Given the description of an element on the screen output the (x, y) to click on. 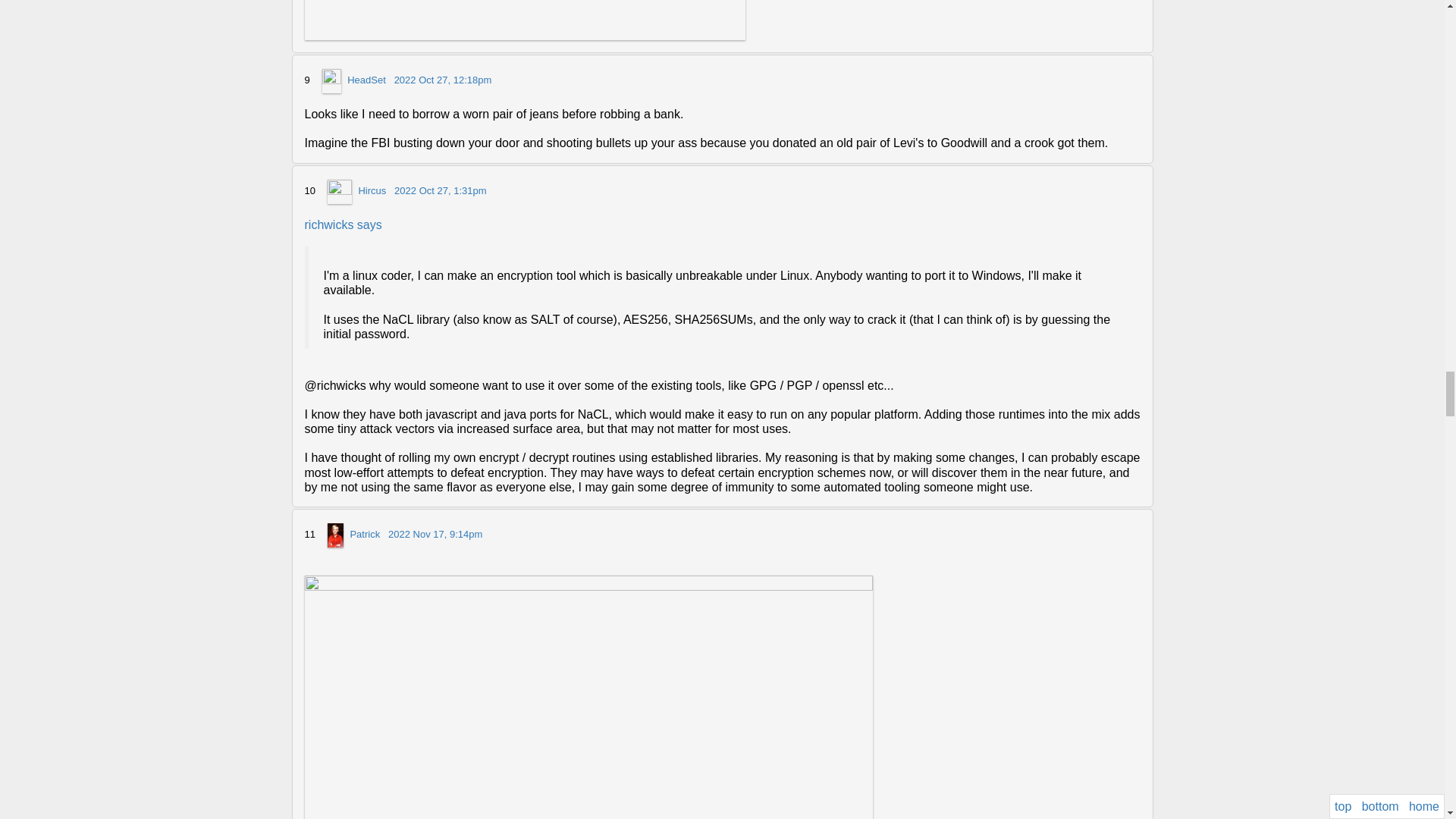
permalink to this comment (434, 533)
permalink to this comment (440, 190)
permalink to this comment (443, 80)
